Given the description of an element on the screen output the (x, y) to click on. 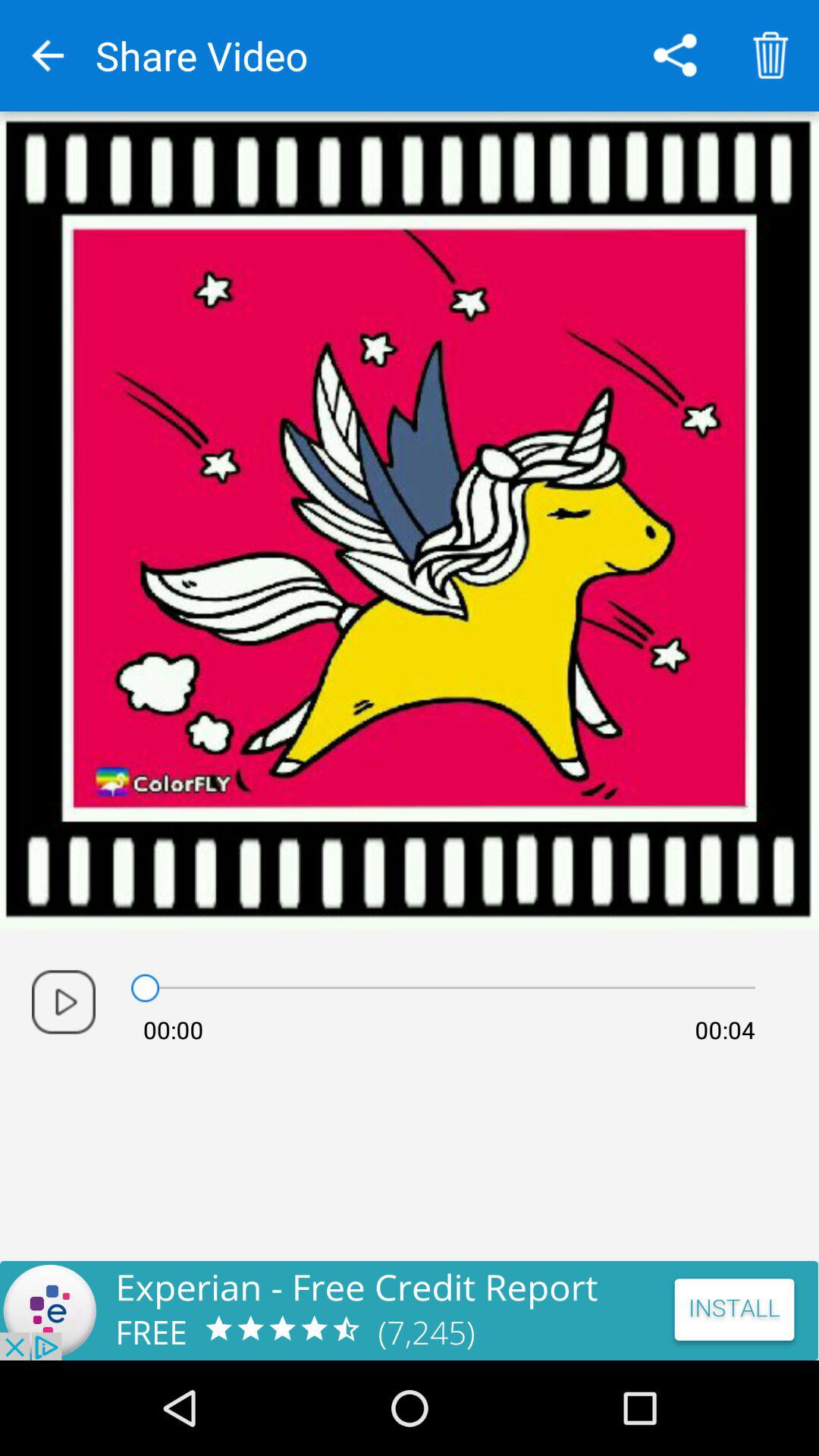
go back (47, 55)
